Given the description of an element on the screen output the (x, y) to click on. 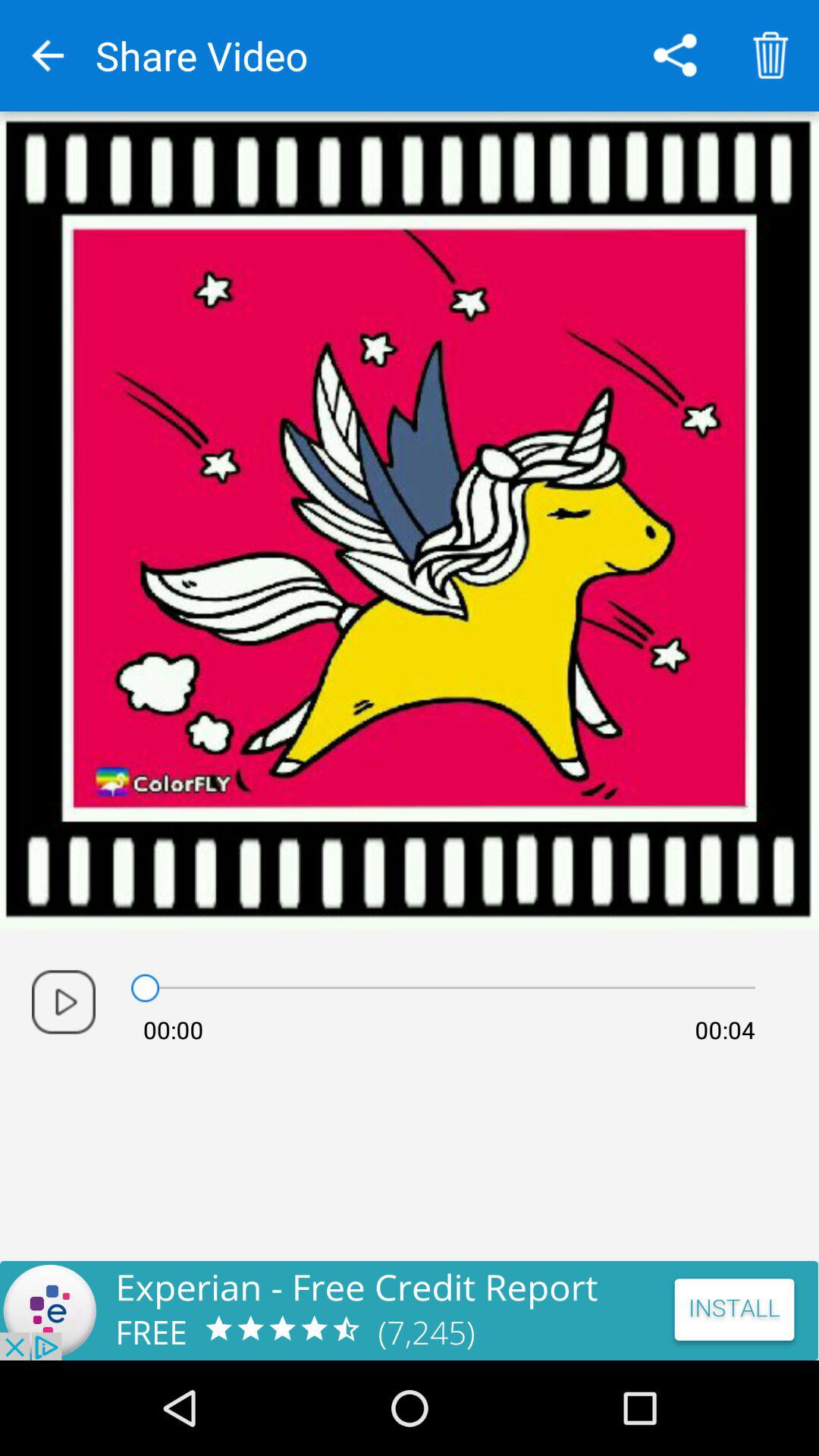
go back (47, 55)
